Given the description of an element on the screen output the (x, y) to click on. 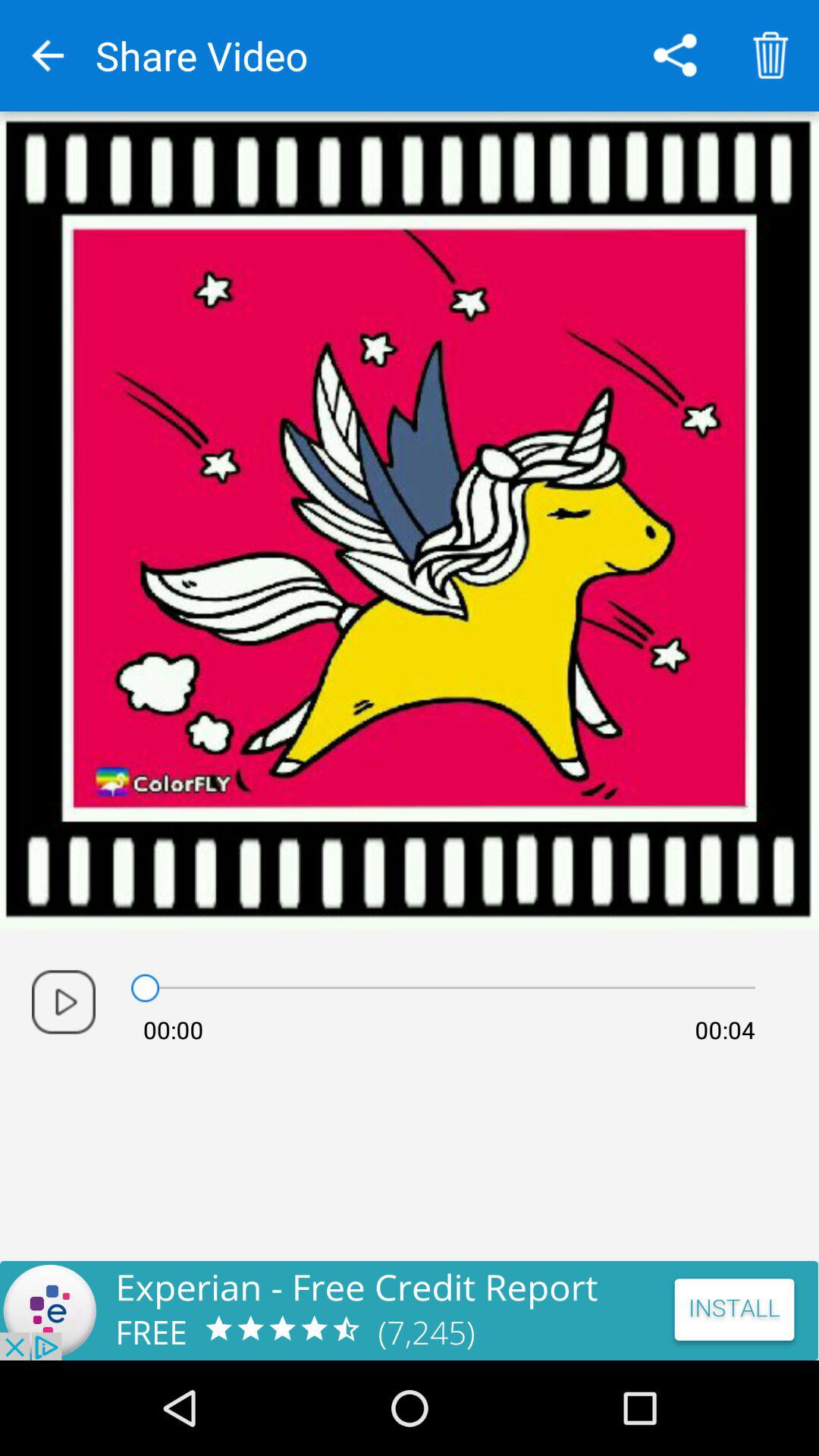
go back (47, 55)
